Given the description of an element on the screen output the (x, y) to click on. 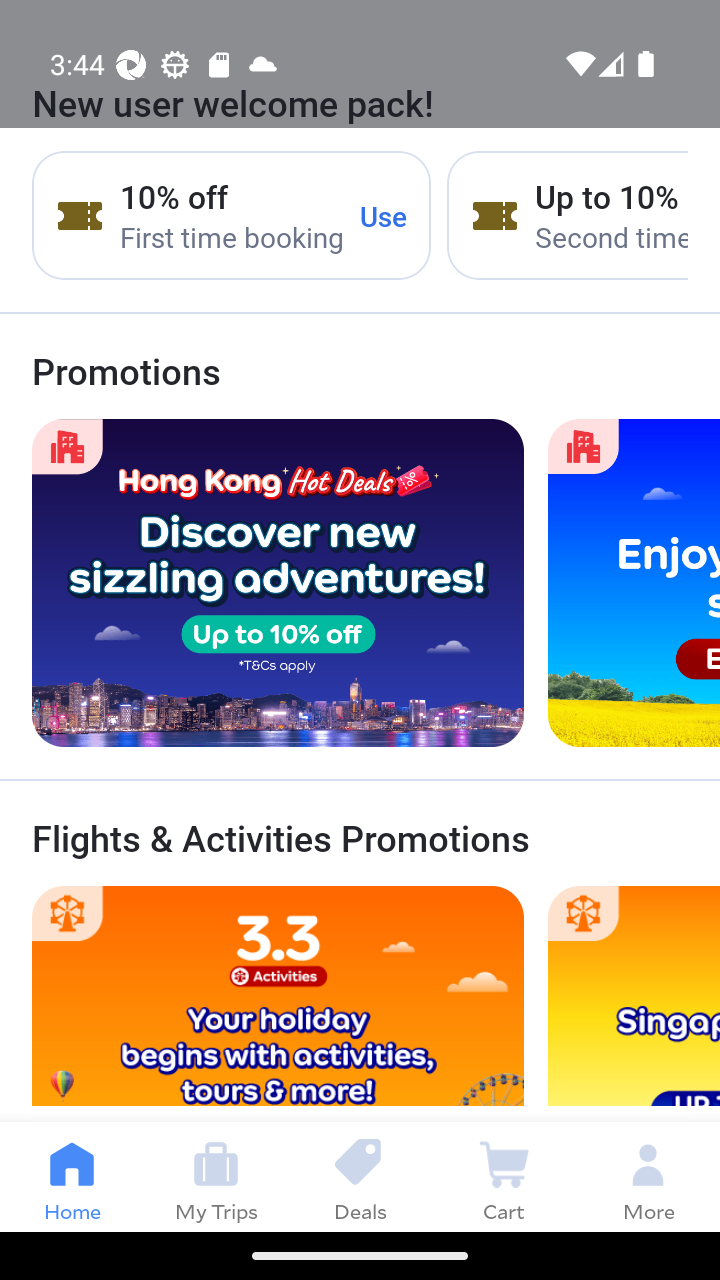
Use (384, 215)
Home (72, 1176)
My Trips (216, 1176)
Deals (360, 1176)
Cart (504, 1176)
More (648, 1176)
